Given the description of an element on the screen output the (x, y) to click on. 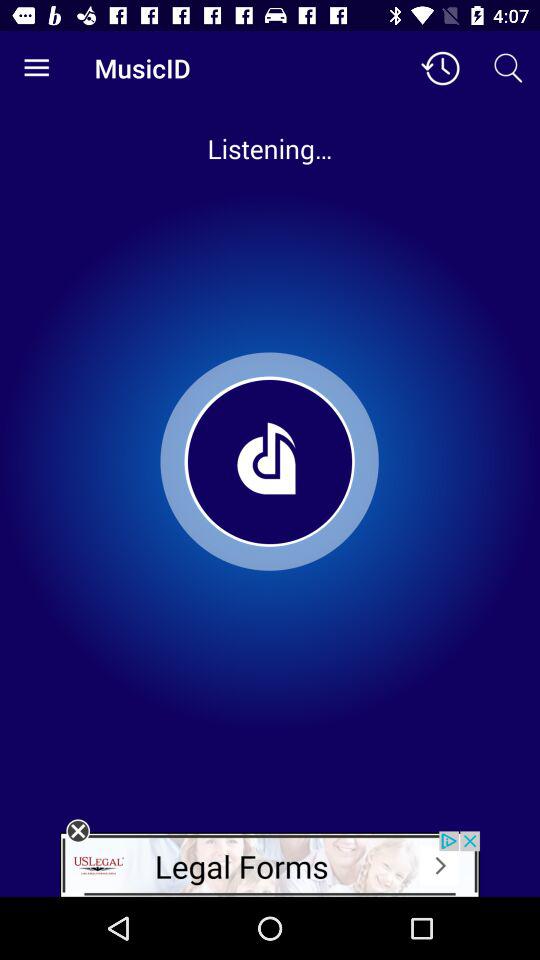
click to close (78, 831)
